Given the description of an element on the screen output the (x, y) to click on. 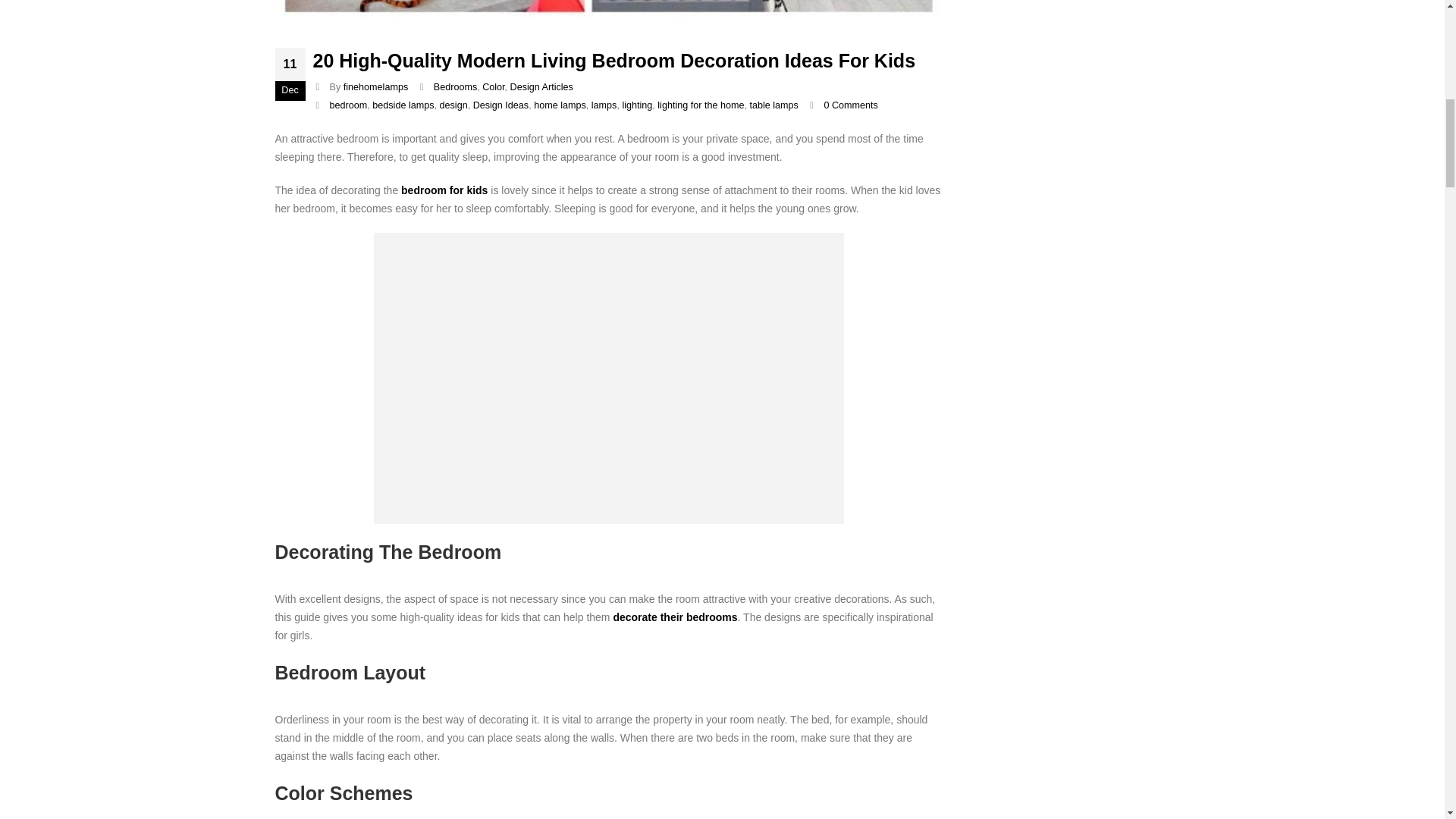
Design Ideas (501, 104)
design (453, 104)
lighting for the home (701, 104)
decorate their bedrooms (674, 616)
0 Comments (850, 104)
bedroom for kids (444, 190)
Color (492, 86)
lamps (604, 104)
Posts by finehomelamps (375, 86)
table lamps (773, 104)
0 Comments (850, 104)
lighting (636, 104)
bedside lamps (402, 104)
bedroom (349, 104)
Bedrooms (455, 86)
